Given the description of an element on the screen output the (x, y) to click on. 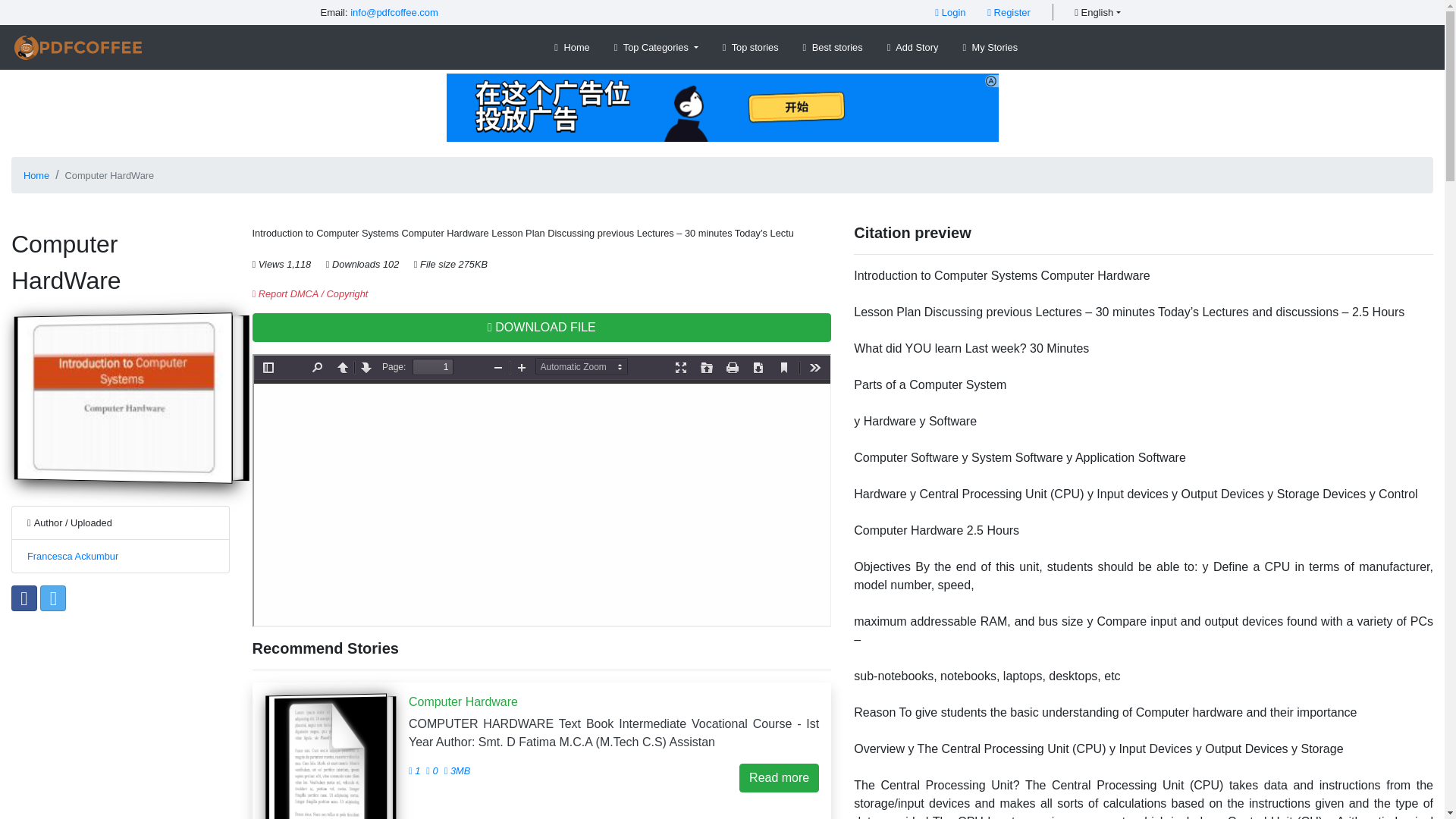
My Stories (989, 47)
Register (1008, 12)
Login (949, 12)
Top stories (750, 47)
DOWNLOAD FILE (541, 327)
Top Categories (656, 47)
Home (571, 47)
Add Story (912, 47)
Home (36, 174)
Francesca Ackumbur (72, 555)
